Given the description of an element on the screen output the (x, y) to click on. 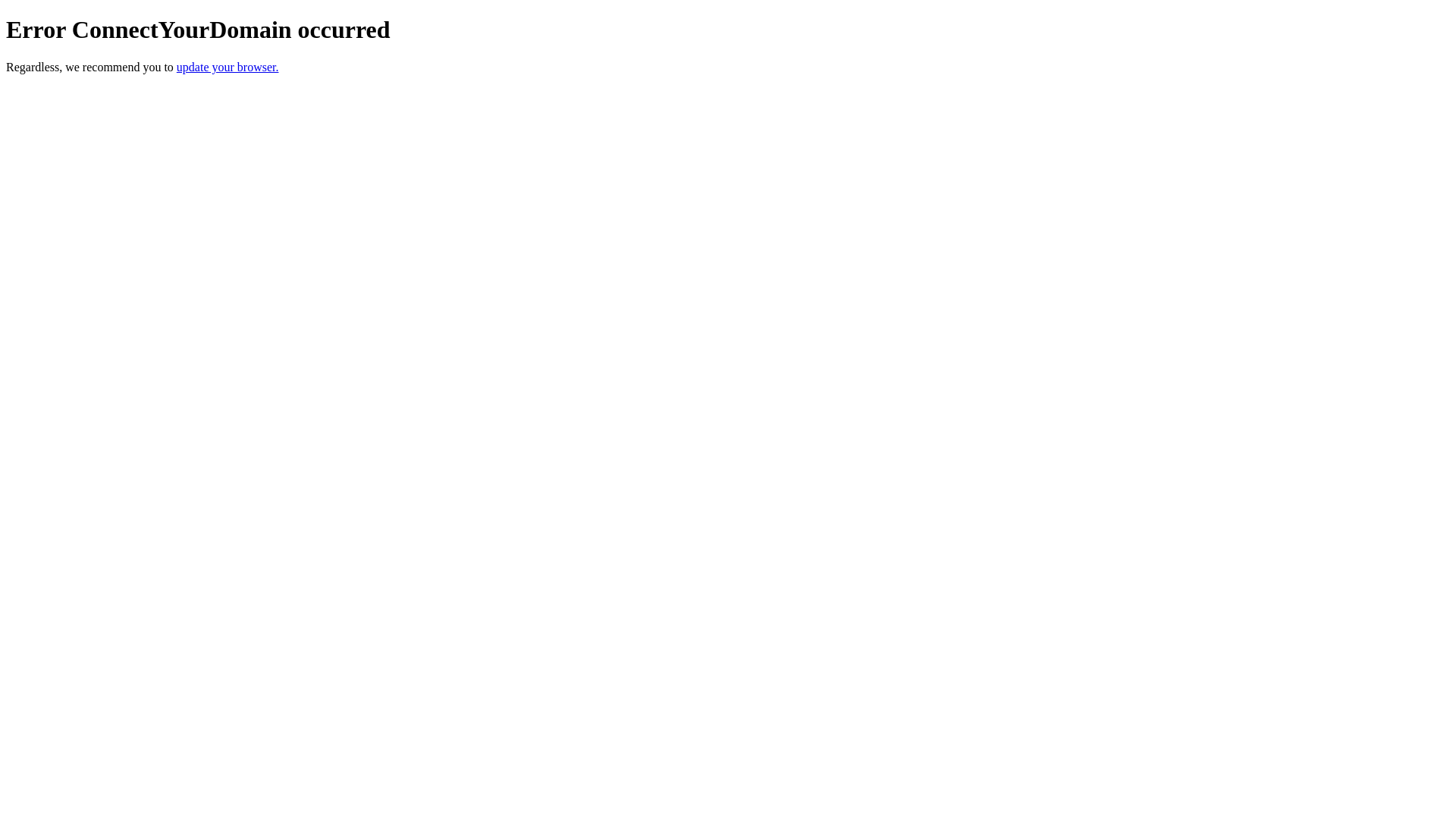
update your browser. Element type: text (227, 66)
